Given the description of an element on the screen output the (x, y) to click on. 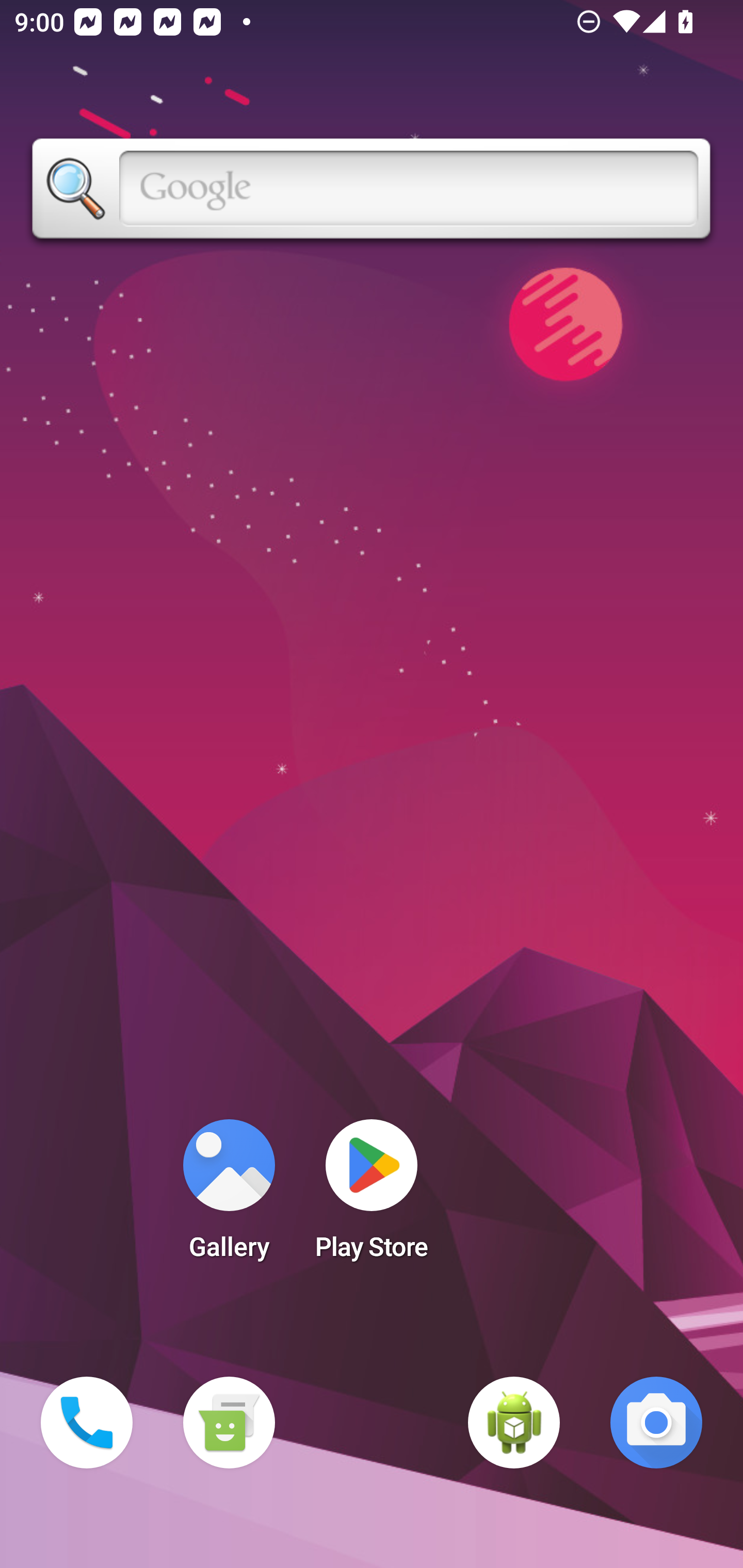
Gallery (228, 1195)
Play Store (371, 1195)
Phone (86, 1422)
Messaging (228, 1422)
WebView Browser Tester (513, 1422)
Camera (656, 1422)
